Given the description of an element on the screen output the (x, y) to click on. 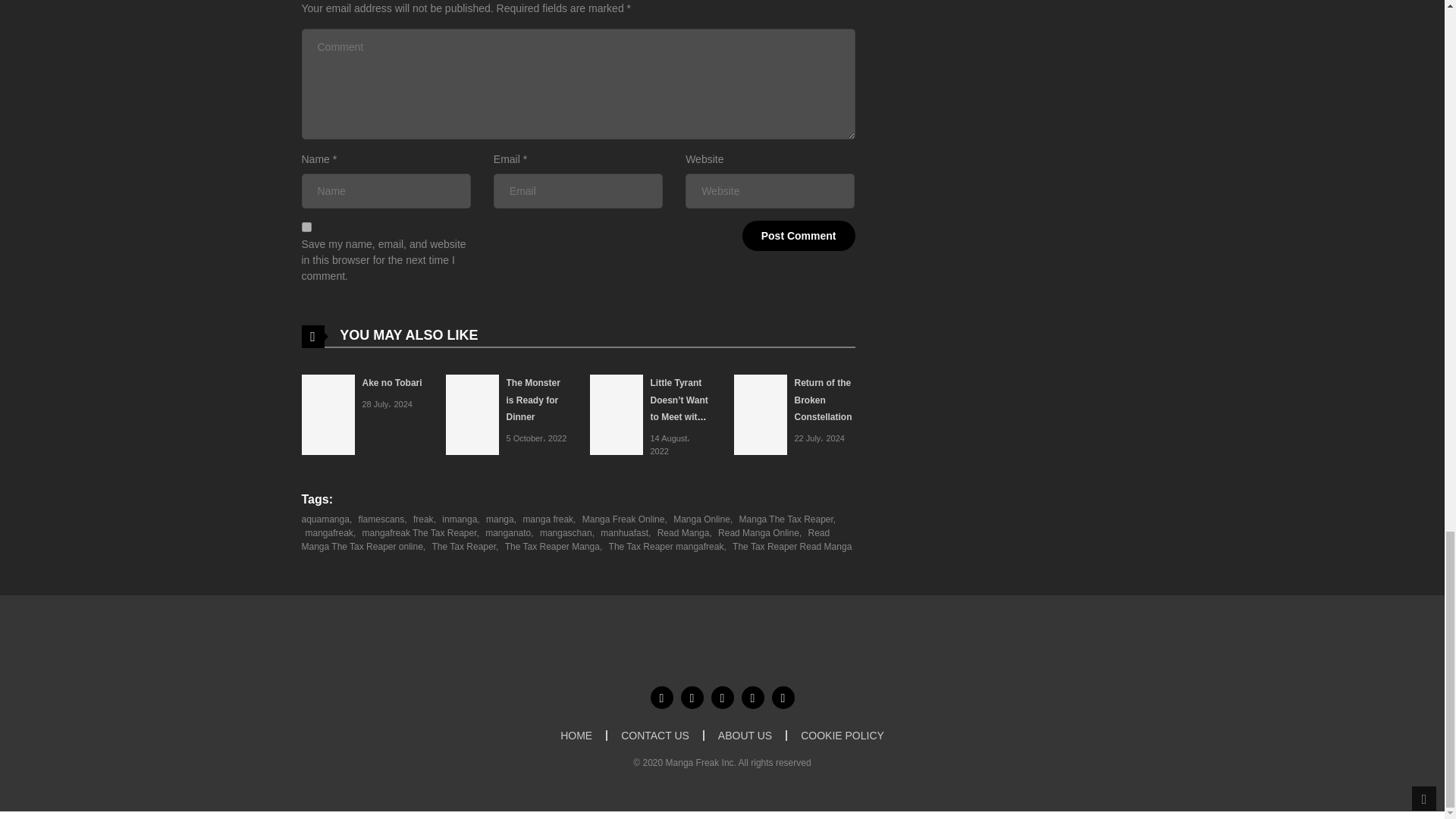
The Monster is Ready for Dinner (472, 413)
Instagram (782, 697)
Twitter (692, 697)
Return of the Broken Constellation (822, 400)
The Monster is Ready for Dinner (533, 400)
Ake no Tobari (328, 413)
Return of the Broken Constellation (760, 413)
Post Comment (799, 235)
yes (306, 226)
Youtube (722, 697)
Flickr (752, 697)
Ake no Tobari (392, 382)
Facebook (661, 697)
